Given the description of an element on the screen output the (x, y) to click on. 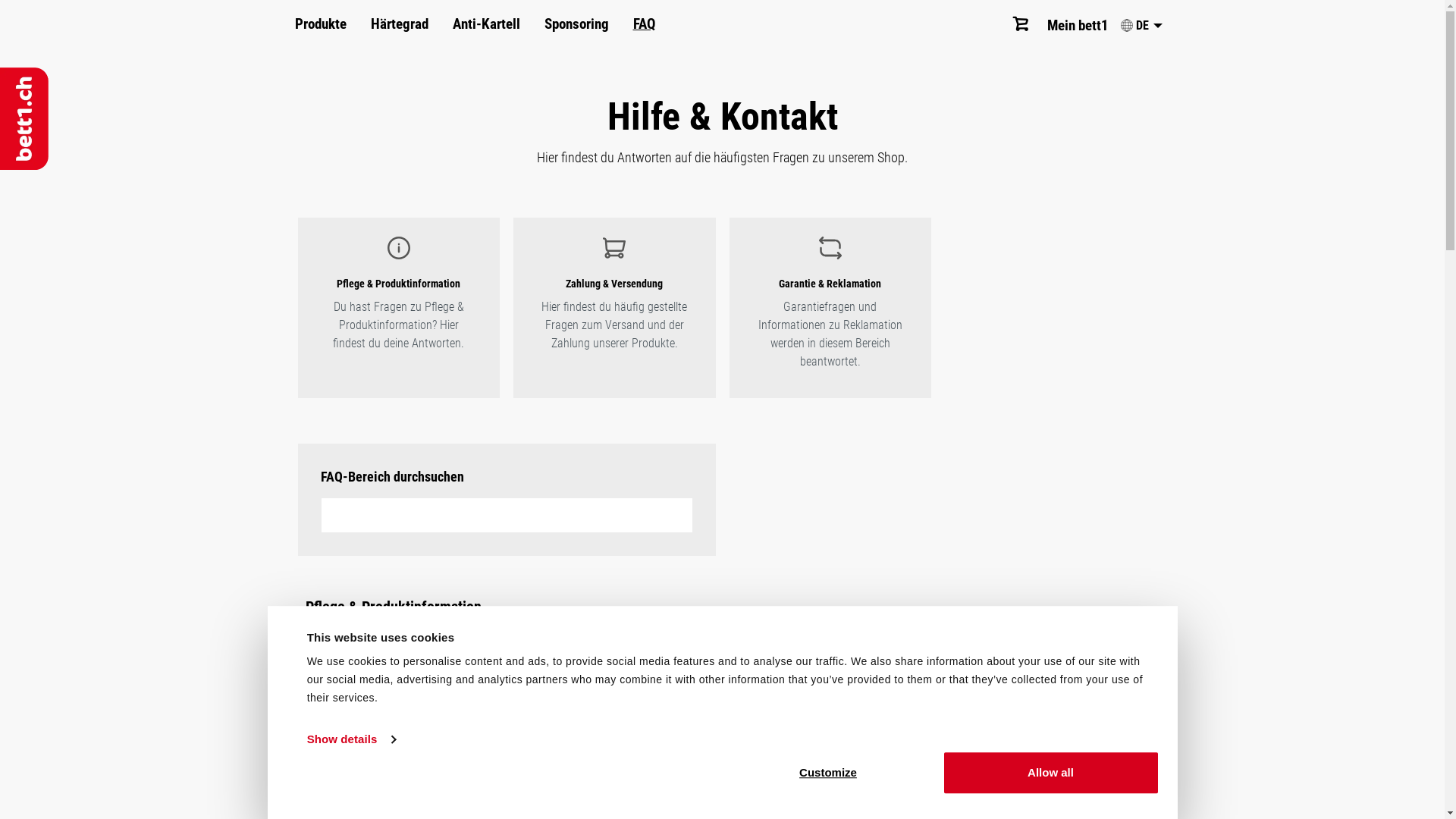
Show details Element type: text (351, 739)
Mein bett1 Element type: text (1077, 25)
Produkte Element type: text (319, 24)
Sponsoring Element type: text (576, 24)
DE Element type: text (1140, 25)
Warenkorb Element type: hover (1022, 23)
Customize Element type: text (827, 772)
Allow all Element type: text (1049, 772)
Zur Startseite wechseln Element type: hover (24, 118)
Was ist die HEIA-Typologie? Element type: text (721, 790)
FAQ Element type: text (643, 24)
Anti-Kartell Element type: text (485, 24)
